Given the description of an element on the screen output the (x, y) to click on. 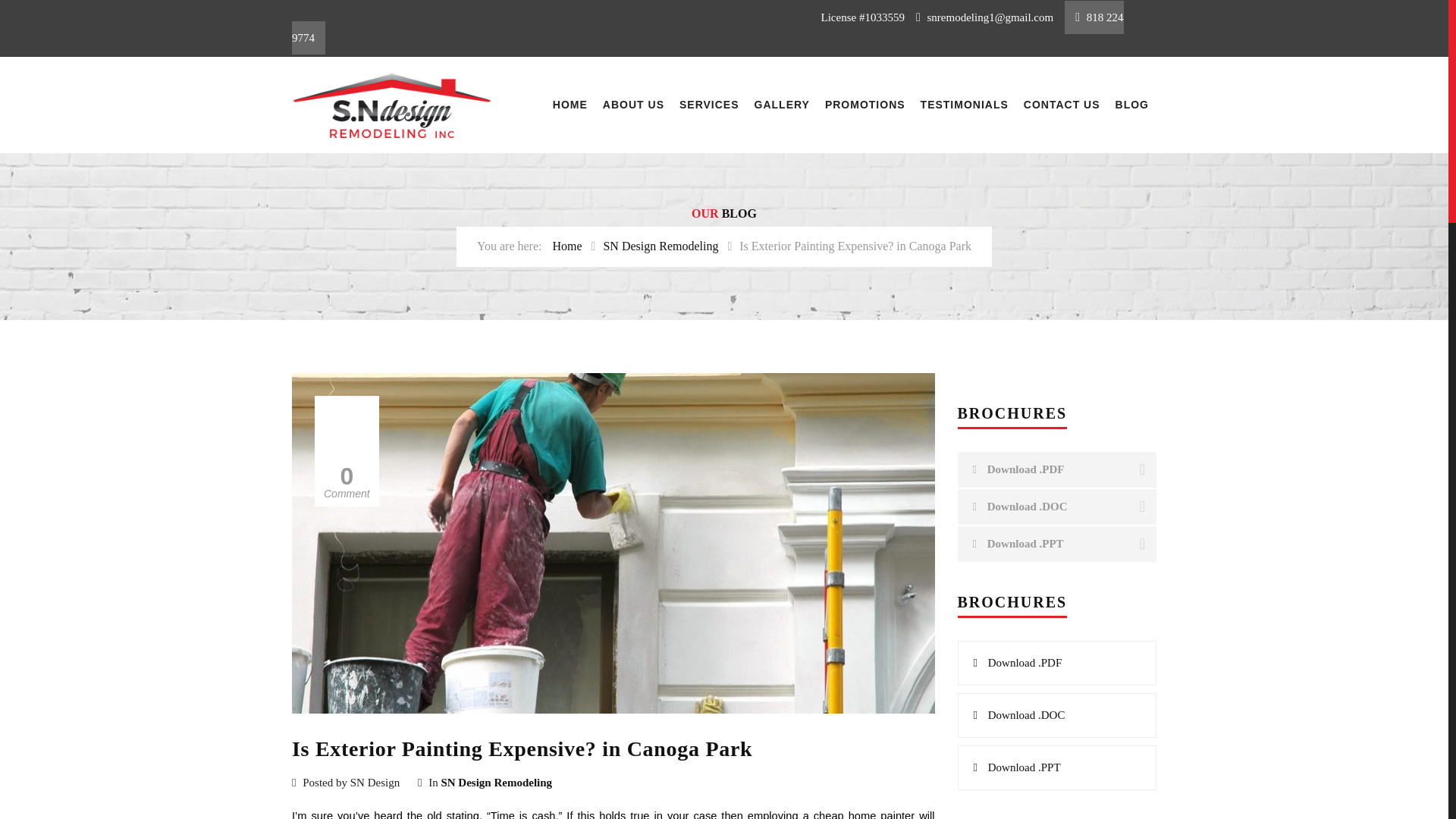
818 224 9774 (708, 27)
